Given the description of an element on the screen output the (x, y) to click on. 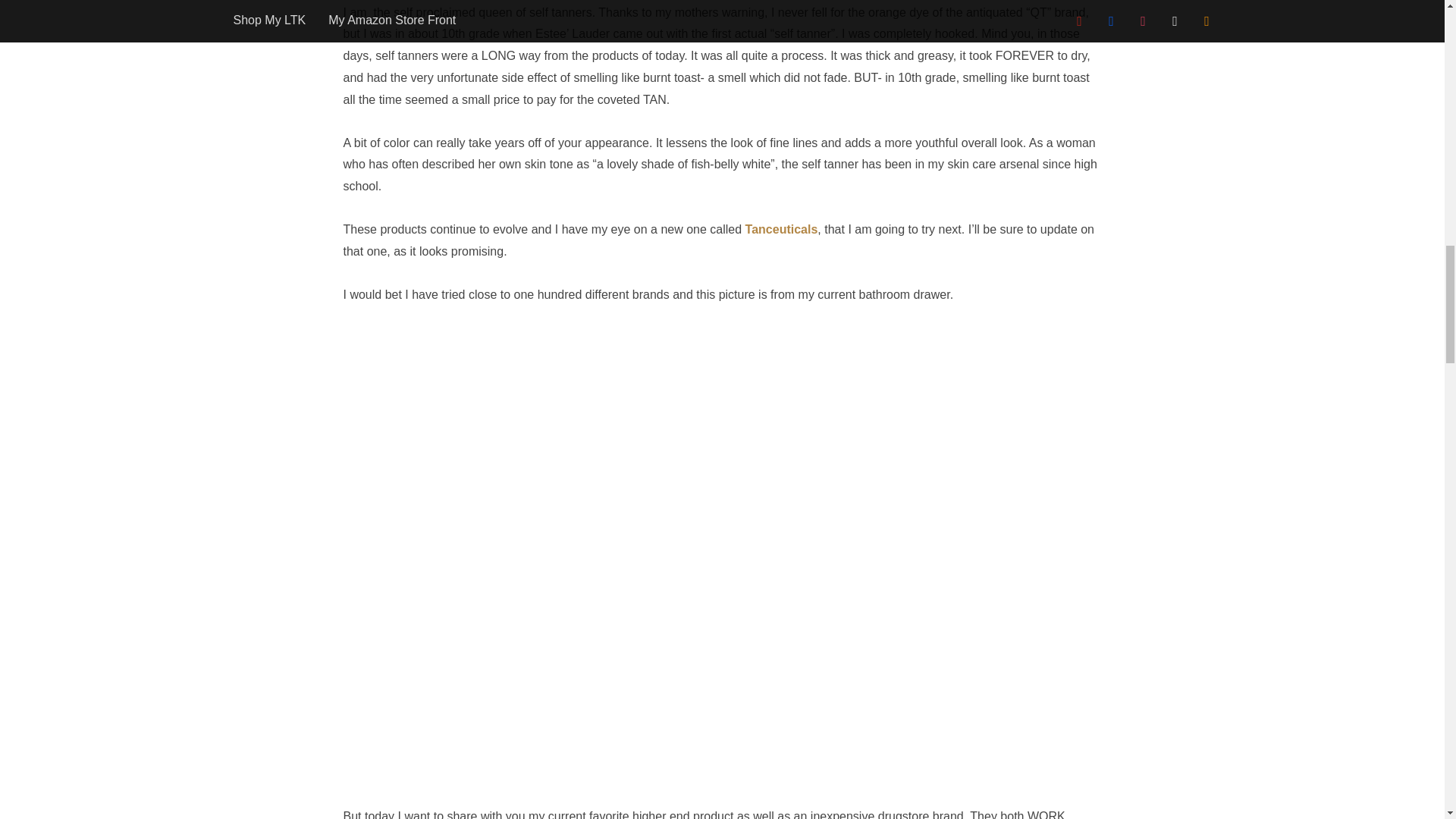
Tanceuticals (781, 228)
